Given the description of an element on the screen output the (x, y) to click on. 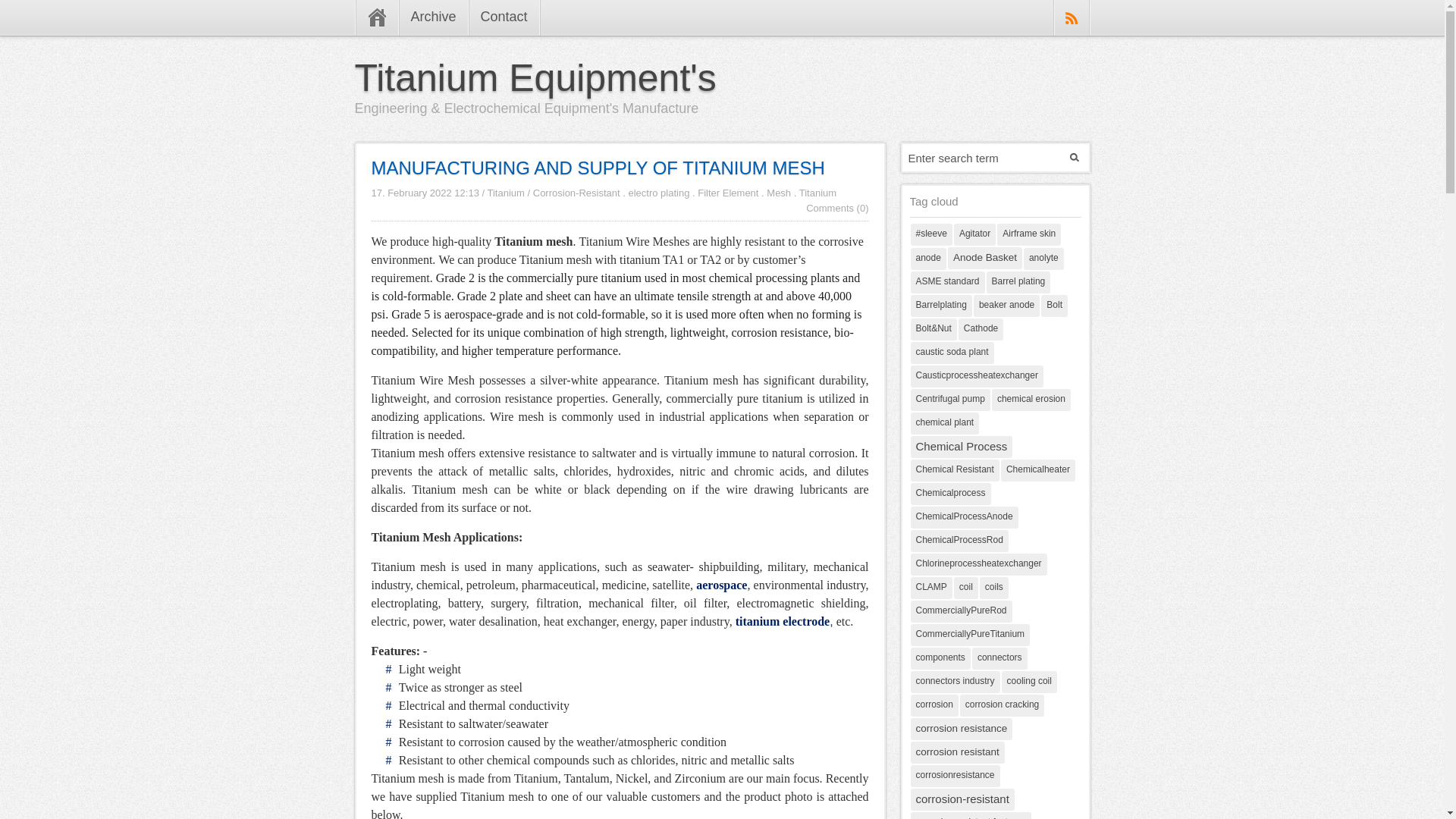
Tag: ASME standard (947, 282)
Tag: Airframe skin (1029, 234)
Archive (432, 18)
Titanium (817, 193)
electro plating (657, 193)
Enter search term (983, 157)
titanium electrode (782, 621)
Tag: anode (927, 259)
Tag: Barrel plating (1019, 282)
Tag: anolyte (1043, 259)
